Given the description of an element on the screen output the (x, y) to click on. 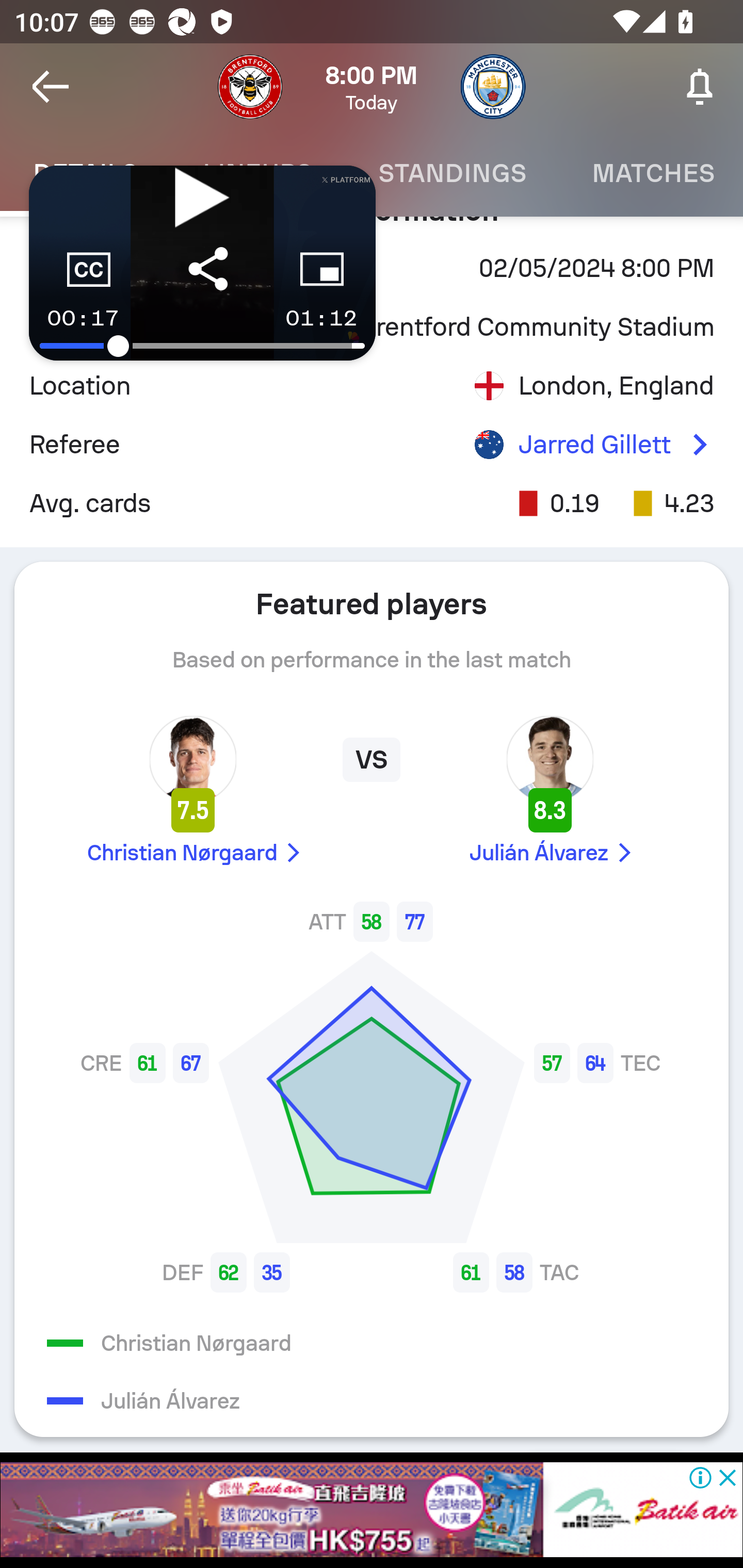
Navigate up (50, 86)
Standings STANDINGS (451, 173)
Matches MATCHES (650, 173)
Referee Jarred Gillett (371, 444)
batik-air-x-hkia-promotion (371, 1509)
